Given the description of an element on the screen output the (x, y) to click on. 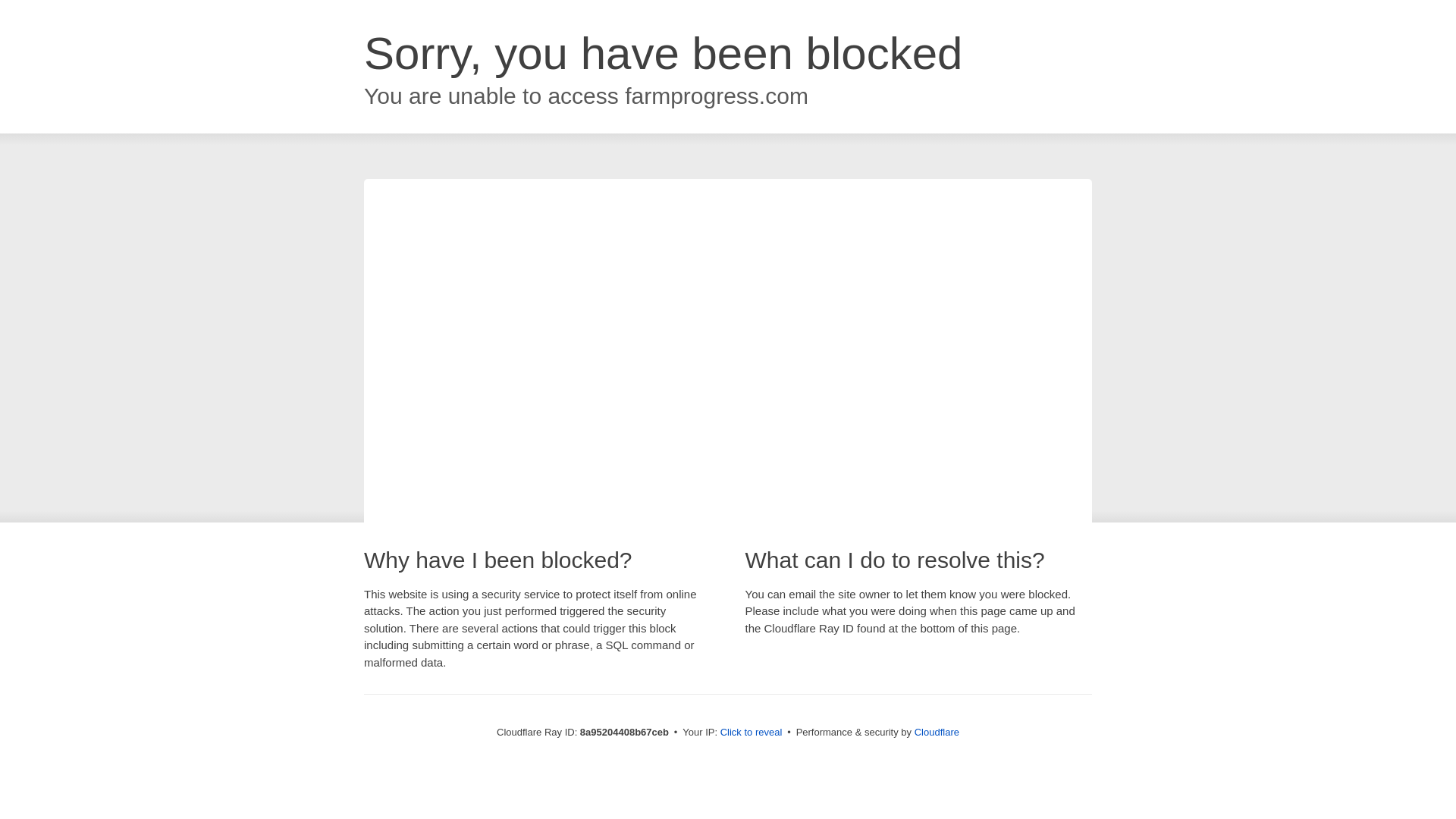
Click to reveal (751, 732)
Cloudflare (936, 731)
